Given the description of an element on the screen output the (x, y) to click on. 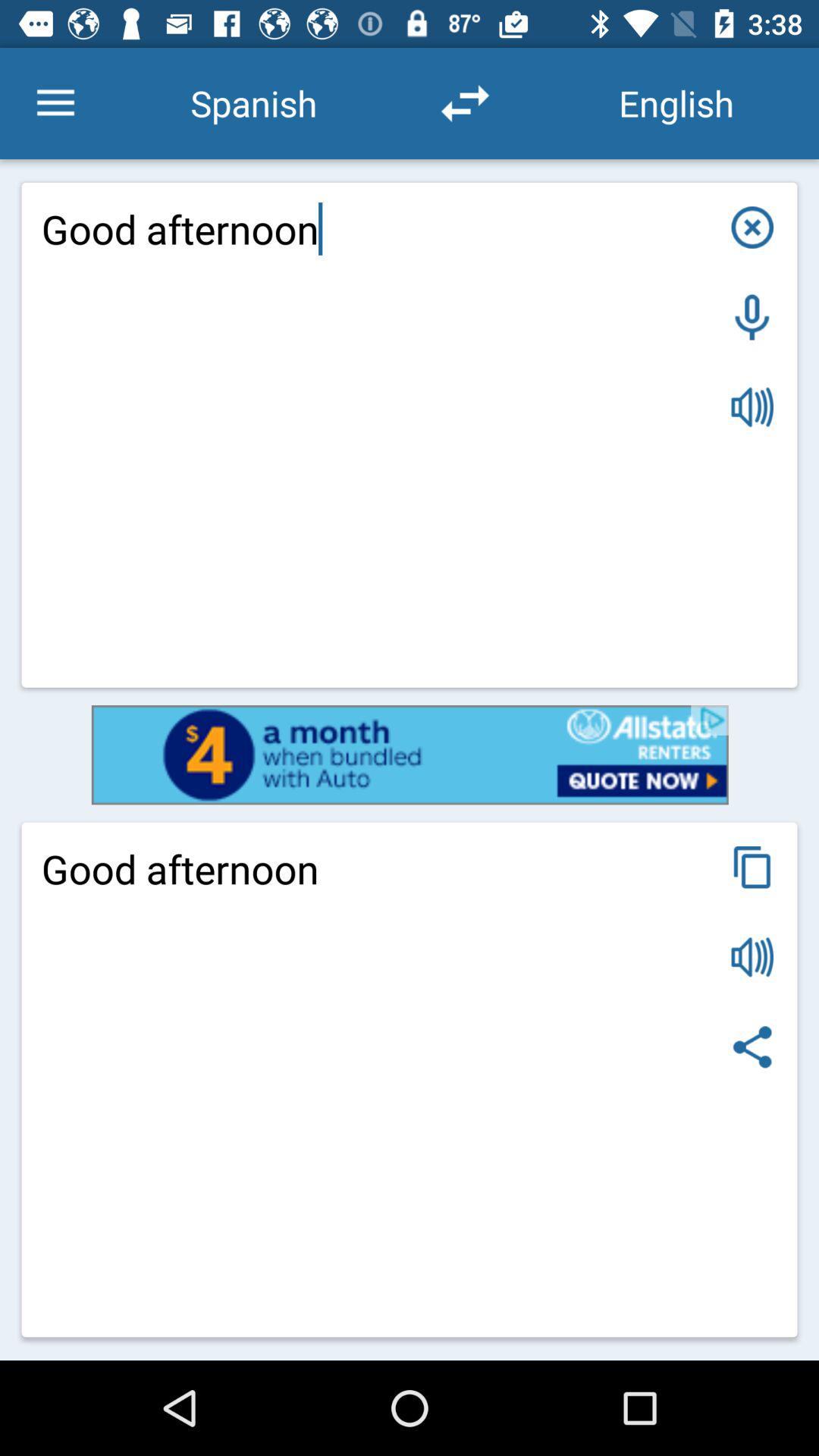
go to share box (752, 1047)
